Given the description of an element on the screen output the (x, y) to click on. 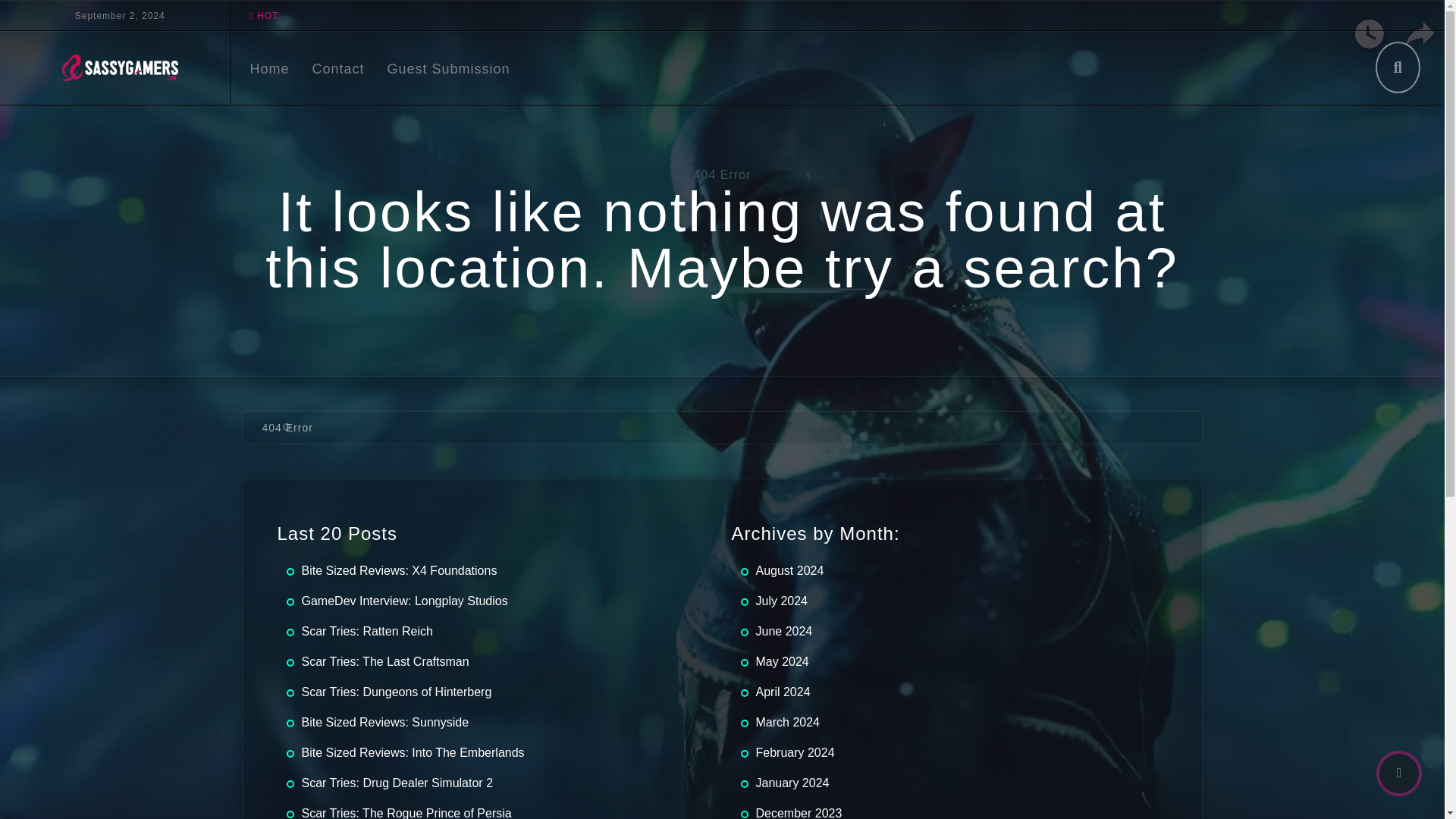
GameDev Interview: Longplay Studios (404, 600)
Home (269, 68)
July 2024 (781, 600)
Scar Tries: Dungeons of Hinterberg (396, 691)
June 2024 (783, 631)
Contact (339, 68)
Bite Sized Reviews: Into The Emberlands (412, 752)
Bite Sized Reviews: Sunnyside (384, 721)
Scar Tries: Drug Dealer Simulator 2 (397, 782)
Scar Tries: The Rogue Prince of Persia (406, 812)
